Given the description of an element on the screen output the (x, y) to click on. 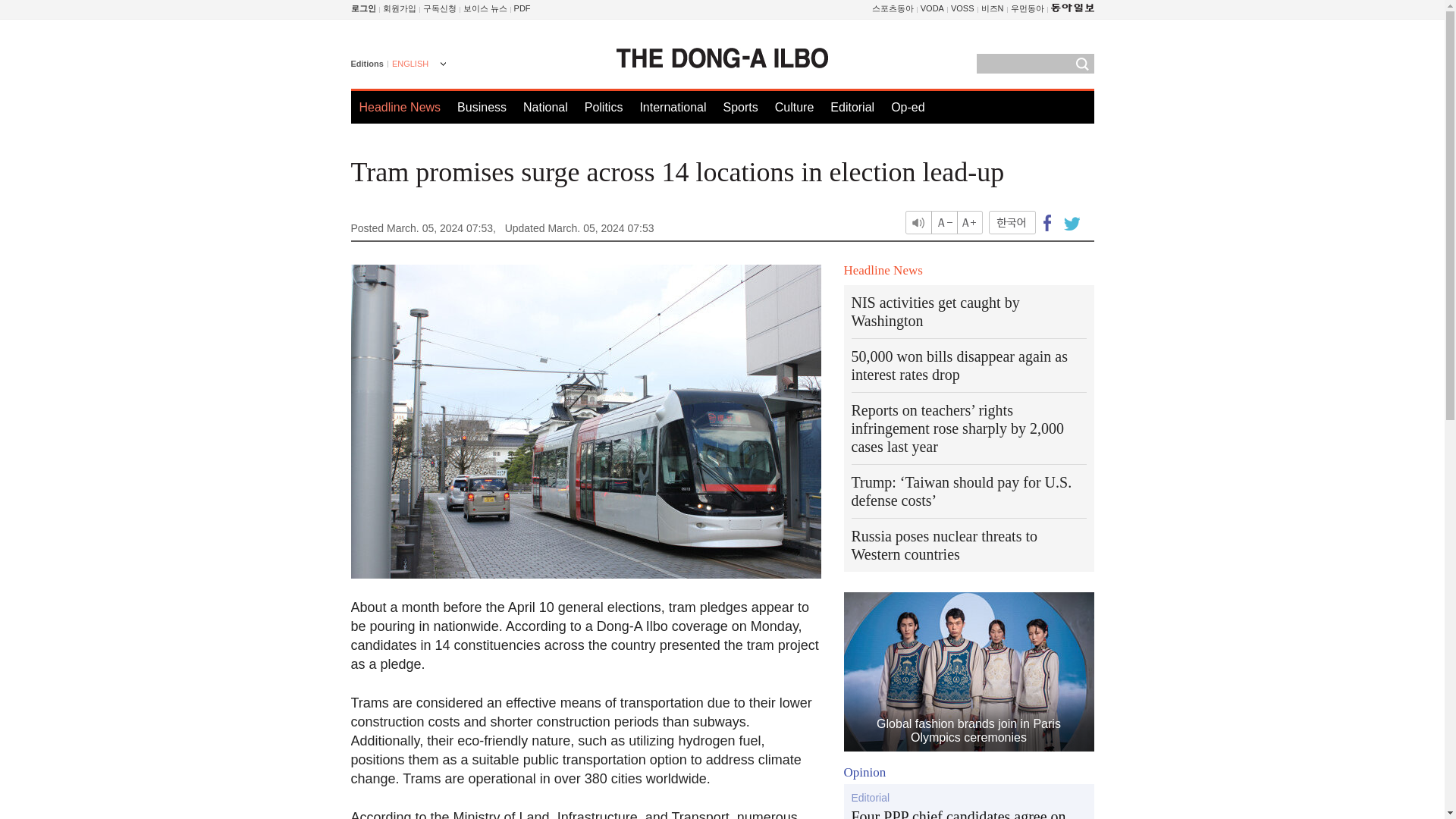
VOICE (484, 8)
VOSS (962, 8)
Sports (739, 106)
Op-ed (907, 106)
International (672, 106)
Business (481, 106)
Culture (793, 106)
Font size up (969, 222)
WOMAN (1026, 8)
Share this article on Facebook (1047, 222)
Font size down (944, 222)
VODA (931, 8)
READERS (440, 8)
PDF (522, 8)
Editorial (852, 106)
